Given the description of an element on the screen output the (x, y) to click on. 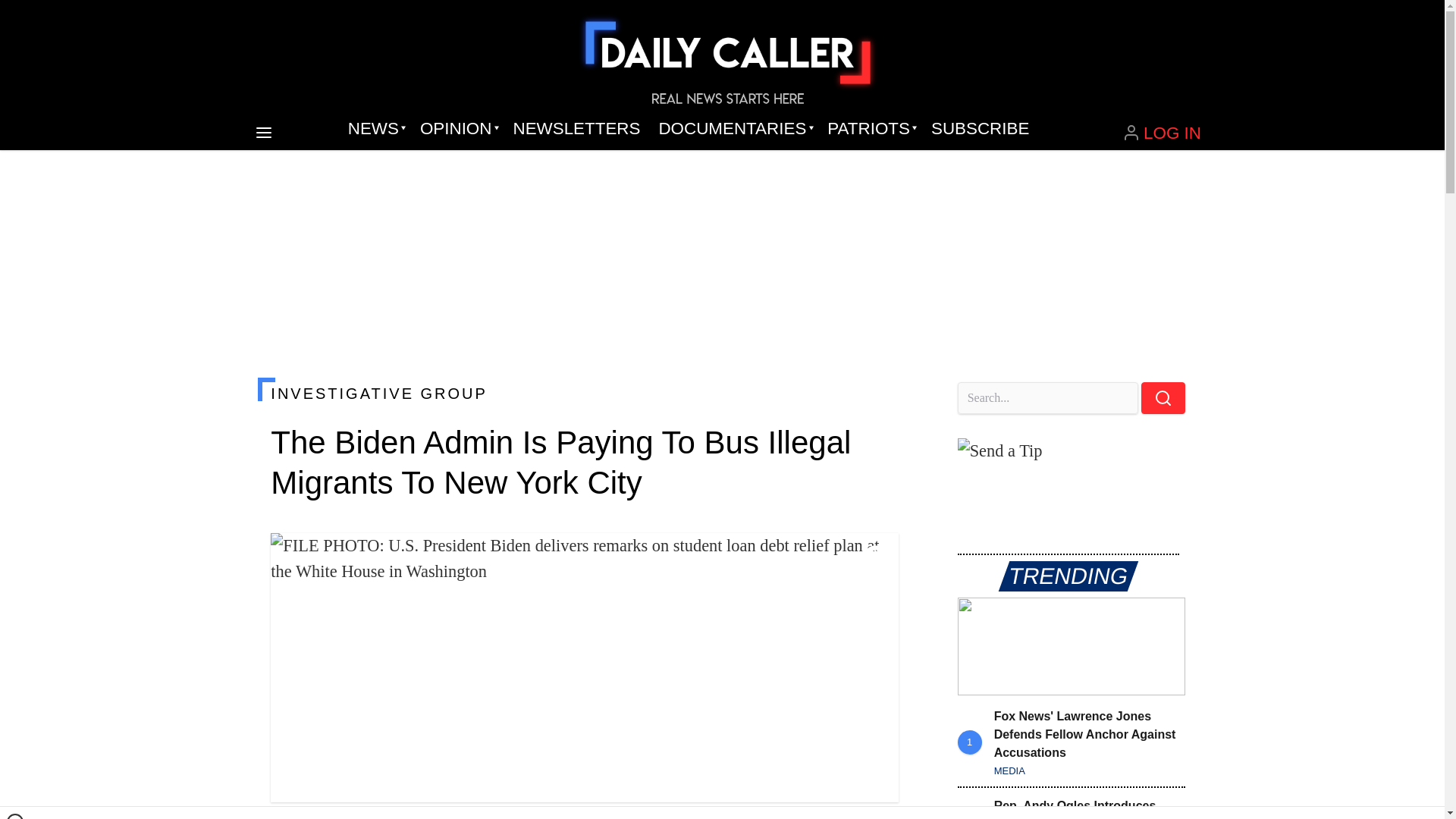
Toggle fullscreen (874, 556)
NEWSLETTERS (576, 128)
PATRIOTS (869, 128)
DOCUMENTARIES (733, 128)
OPINION (456, 128)
INVESTIGATIVE GROUP (584, 393)
Close window (14, 816)
SUBSCRIBE (979, 128)
NEWS (374, 128)
